Given the description of an element on the screen output the (x, y) to click on. 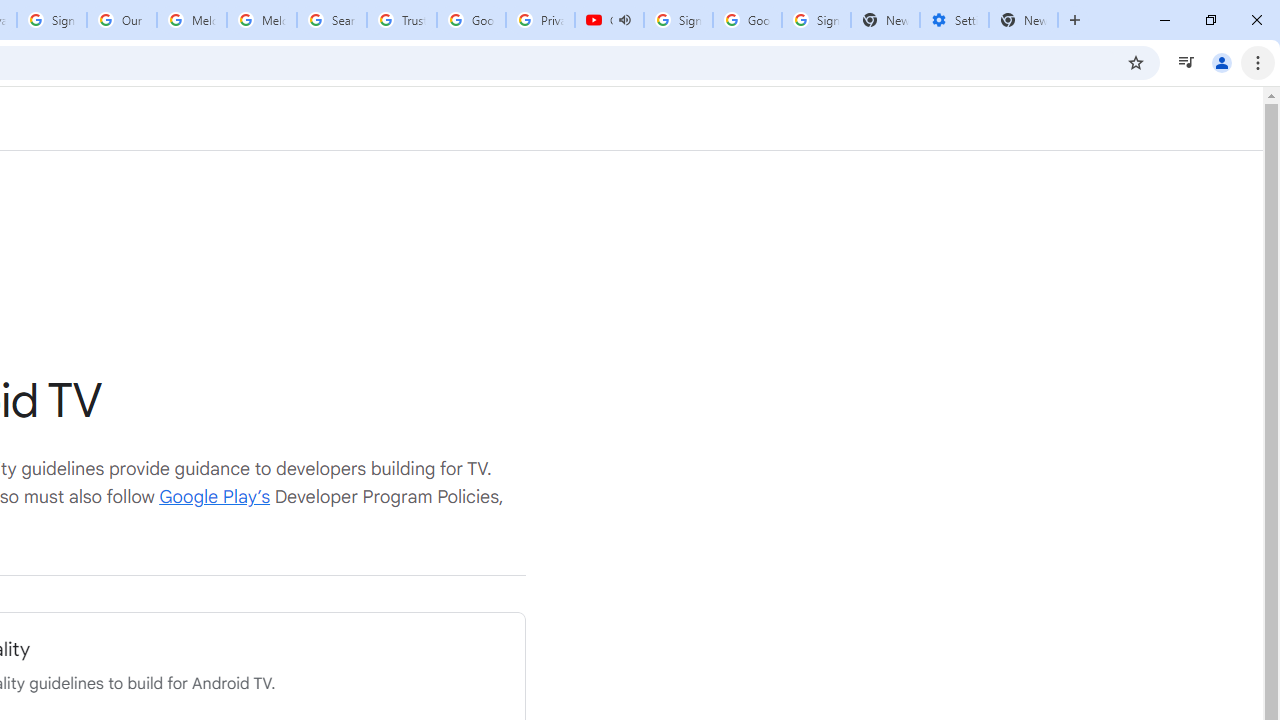
Search our Doodle Library Collection - Google Doodles (332, 20)
Google Ads - Sign in (470, 20)
Settings - Addresses and more (954, 20)
New Tab (1023, 20)
